Given the description of an element on the screen output the (x, y) to click on. 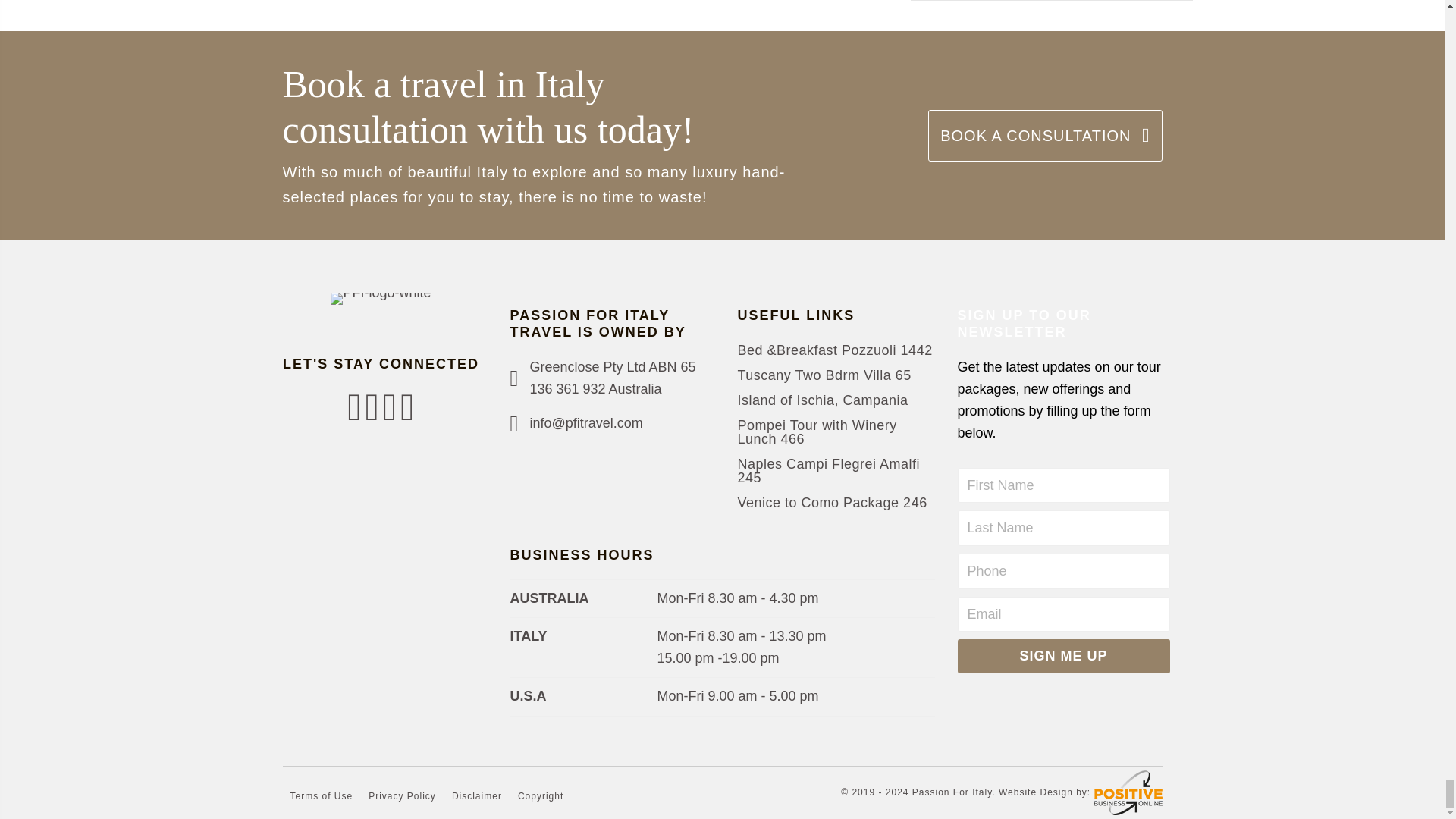
PFI-logo-white (380, 298)
Sign me up (1062, 656)
Passion For Italy (1127, 792)
